Given the description of an element on the screen output the (x, y) to click on. 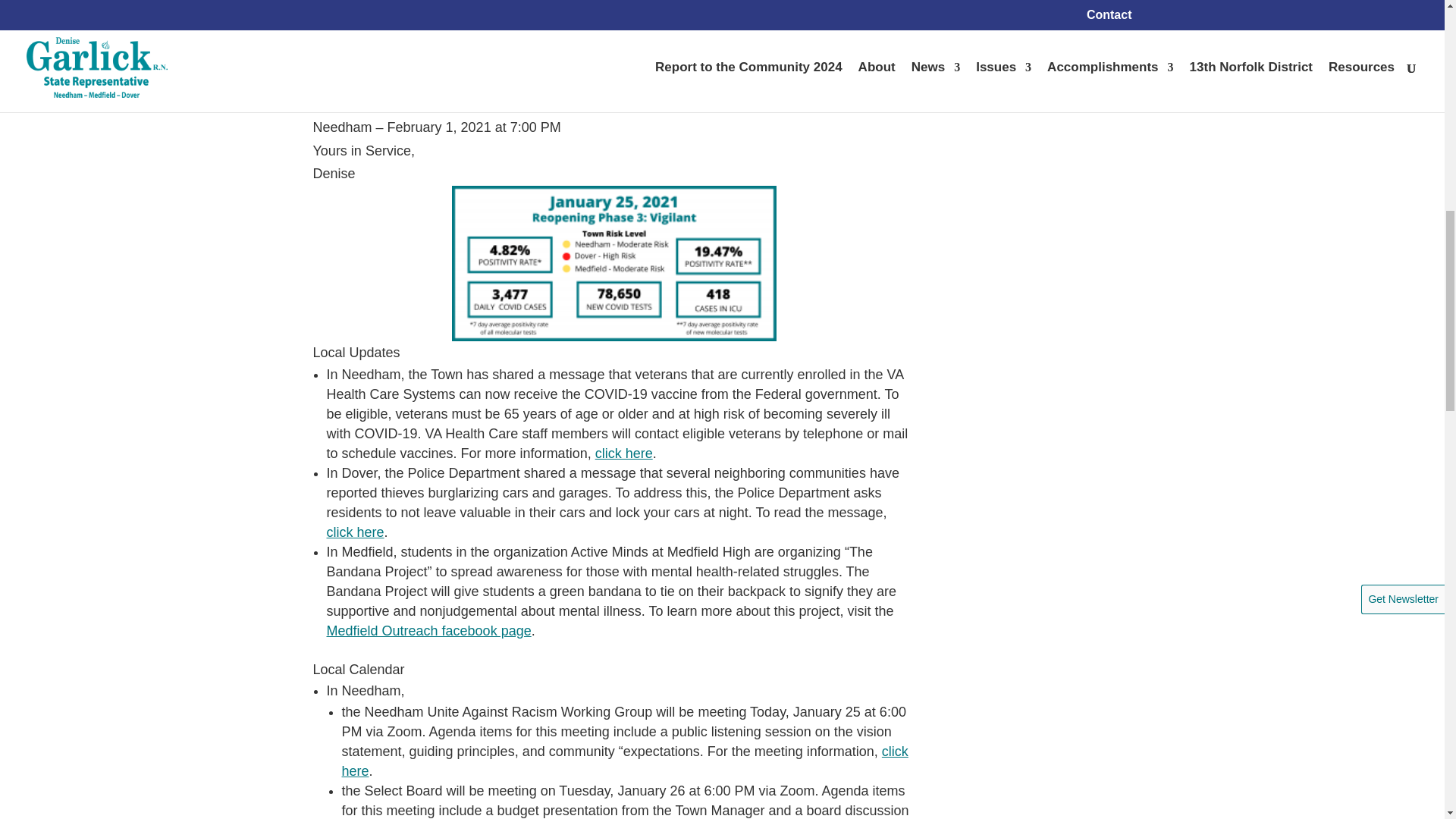
Medfield Outreach facebook page (428, 630)
click here (623, 453)
click here (623, 760)
click here (355, 531)
